Given the description of an element on the screen output the (x, y) to click on. 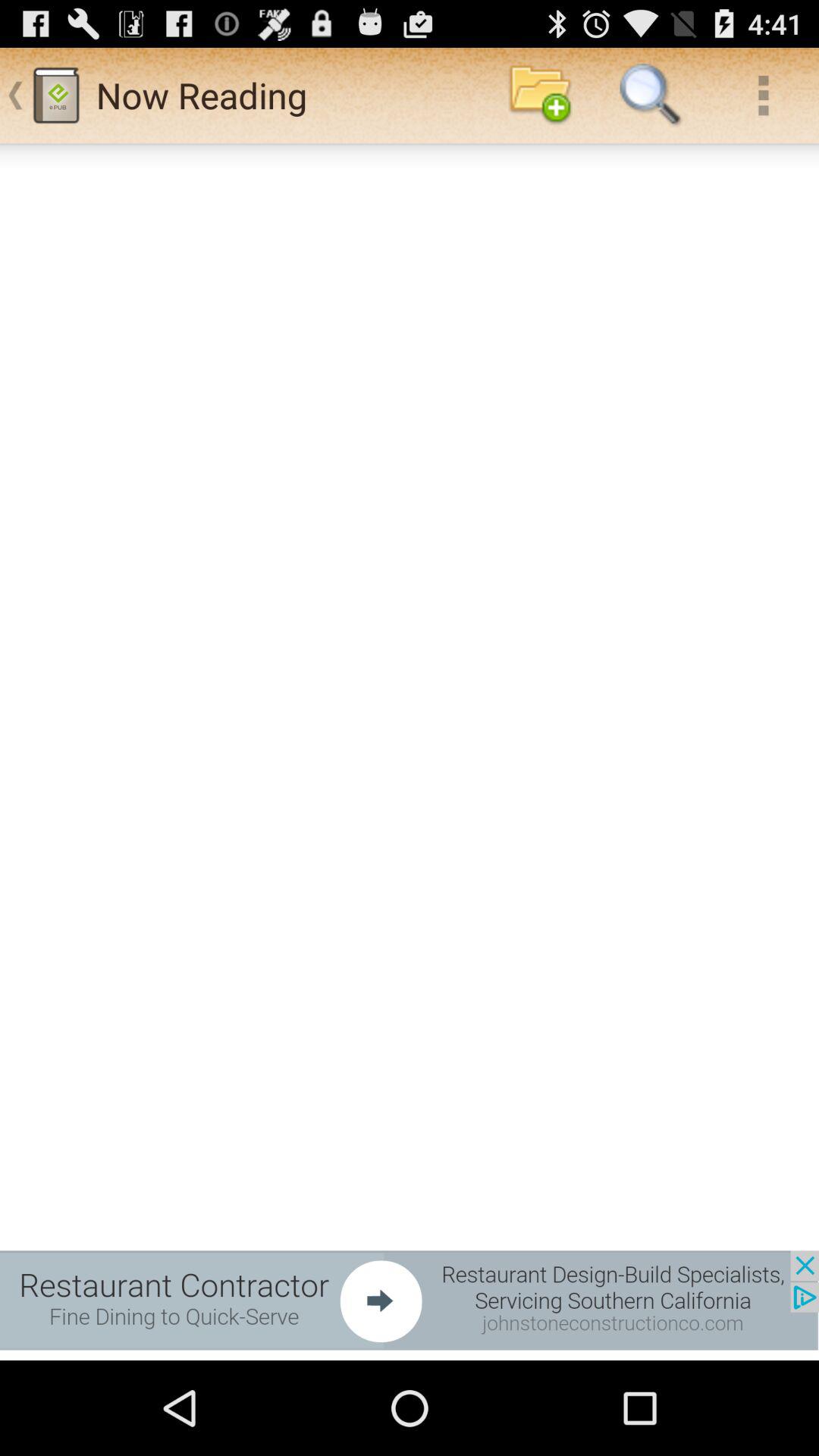
turn off icon at the top (540, 95)
